Given the description of an element on the screen output the (x, y) to click on. 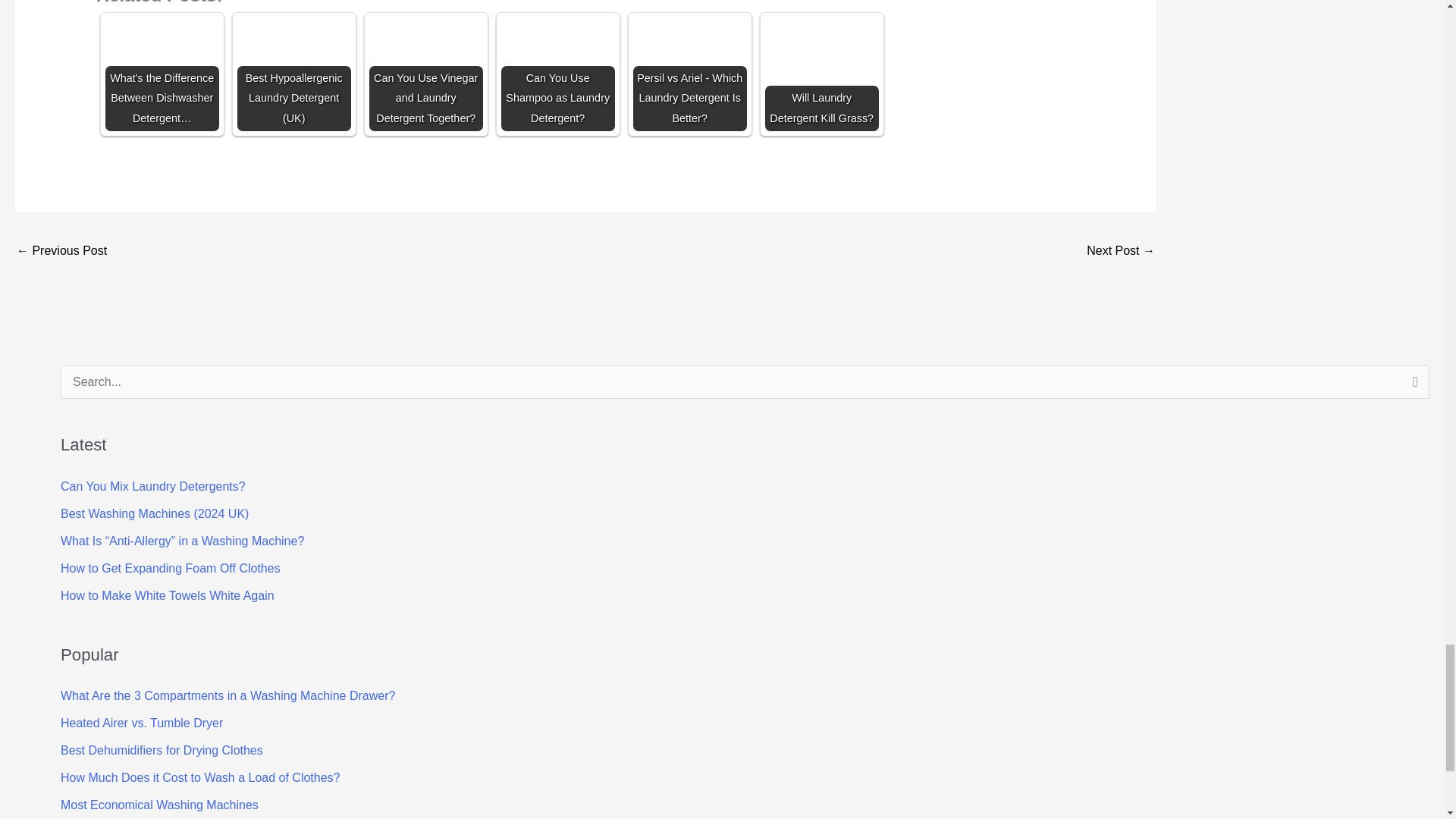
Home Remedies for a Smelly Washing Machine (61, 252)
Can You Mix Laundry Detergents? (153, 486)
Can You Use Vinegar and Laundry Detergent Together? (426, 74)
Persil vs Ariel - Which Laundry Detergent Is Better? (689, 74)
Can You Use Shampoo as Laundry Detergent? (557, 74)
Will Laundry Detergent Kill Grass? (822, 74)
